Given the description of an element on the screen output the (x, y) to click on. 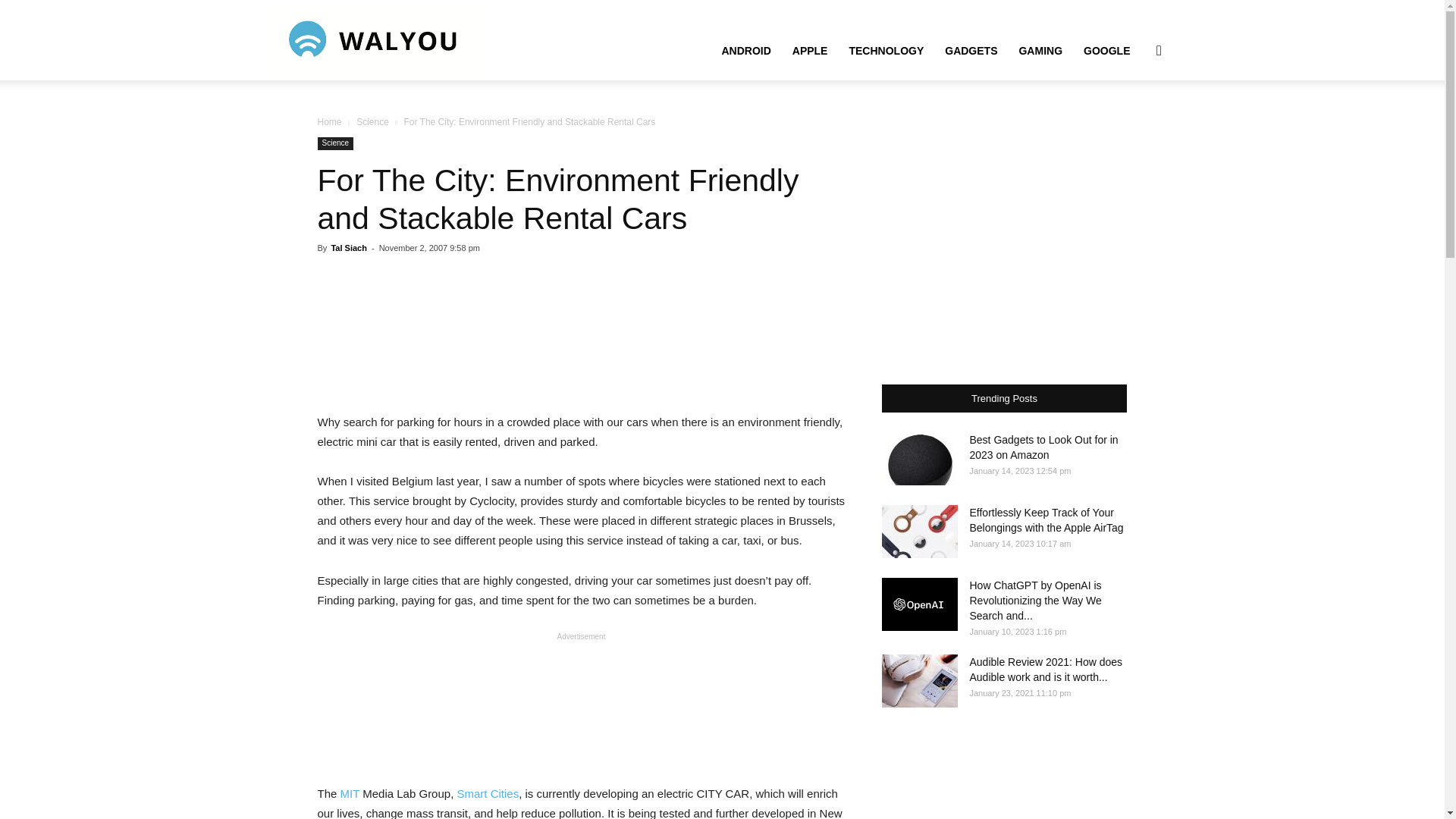
ANDROID (745, 50)
MIT (349, 793)
Advertisement (580, 333)
Walyou (373, 40)
Walyou (373, 39)
View all posts in Science (372, 122)
APPLE (809, 50)
GOOGLE (1106, 50)
Search (1134, 122)
Home (328, 122)
Tal Siach (348, 247)
Smart Cities (487, 793)
TECHNOLOGY (886, 50)
Science (372, 122)
GADGETS (970, 50)
